Given the description of an element on the screen output the (x, y) to click on. 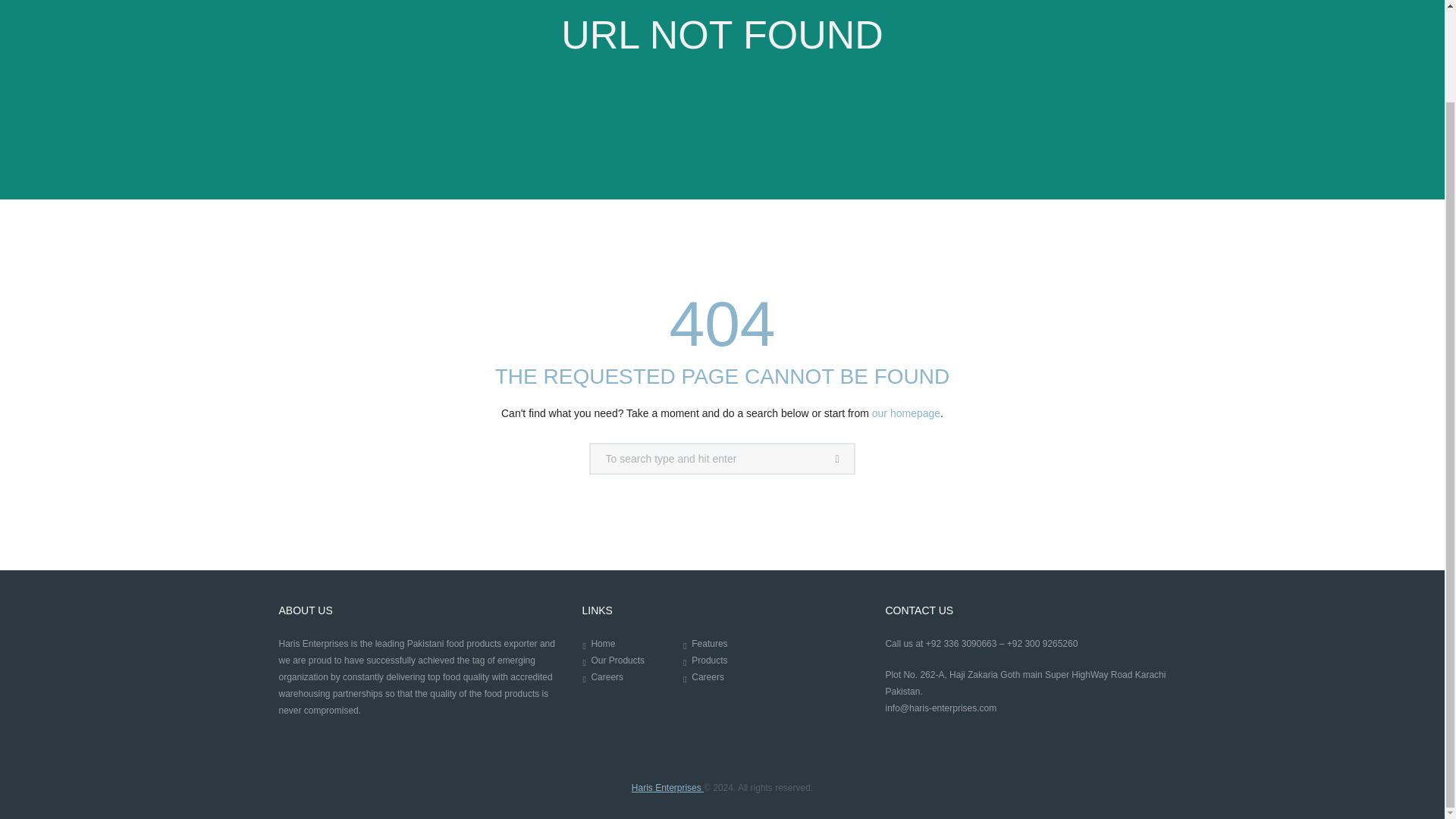
Products (708, 660)
Our Products (618, 660)
Home (602, 643)
our homepage (906, 413)
Features (708, 643)
Careers (707, 676)
Careers (607, 676)
Haris Enterprises (667, 787)
Start search (839, 459)
